Given the description of an element on the screen output the (x, y) to click on. 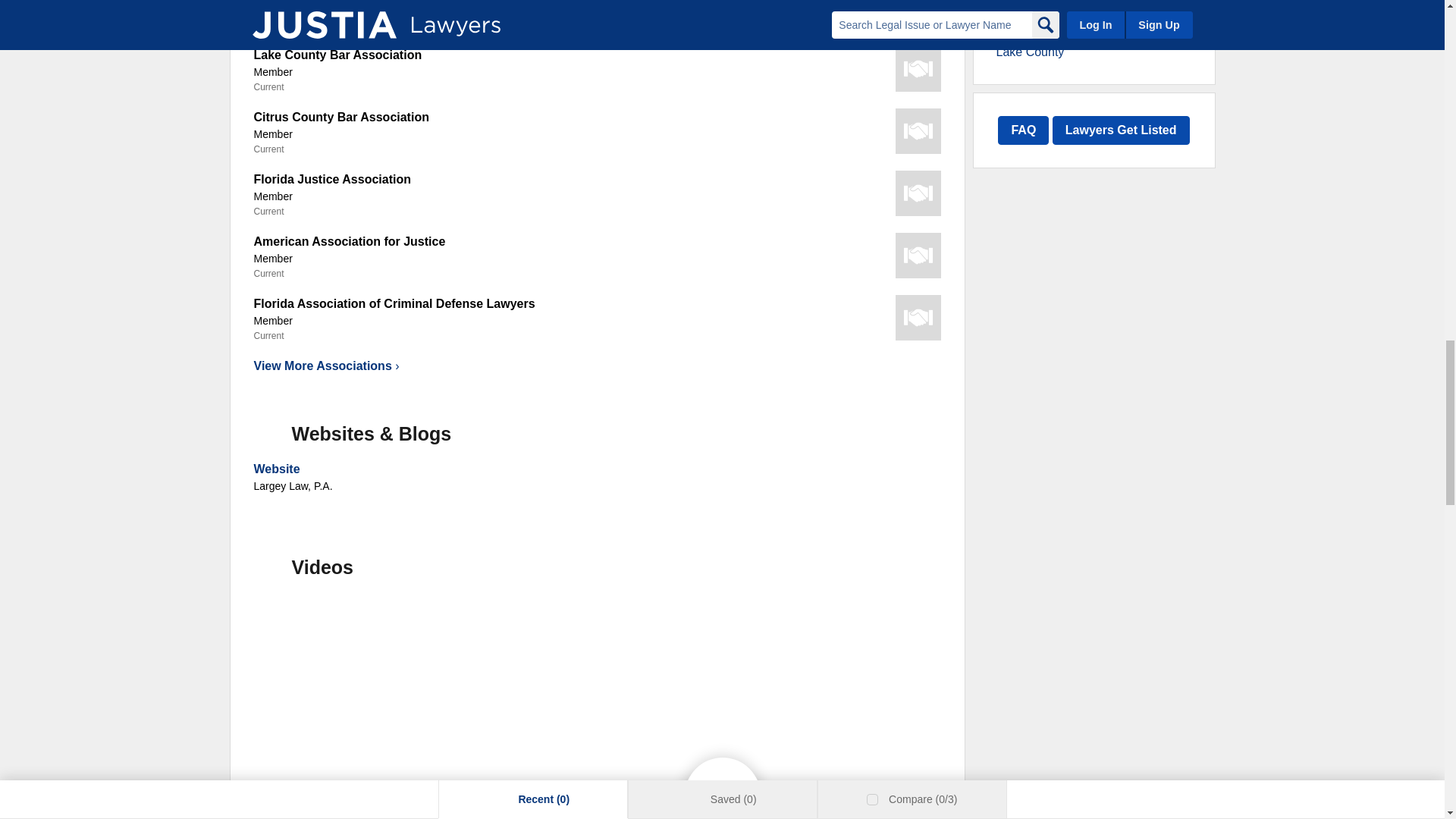
Website (276, 468)
